Given the description of an element on the screen output the (x, y) to click on. 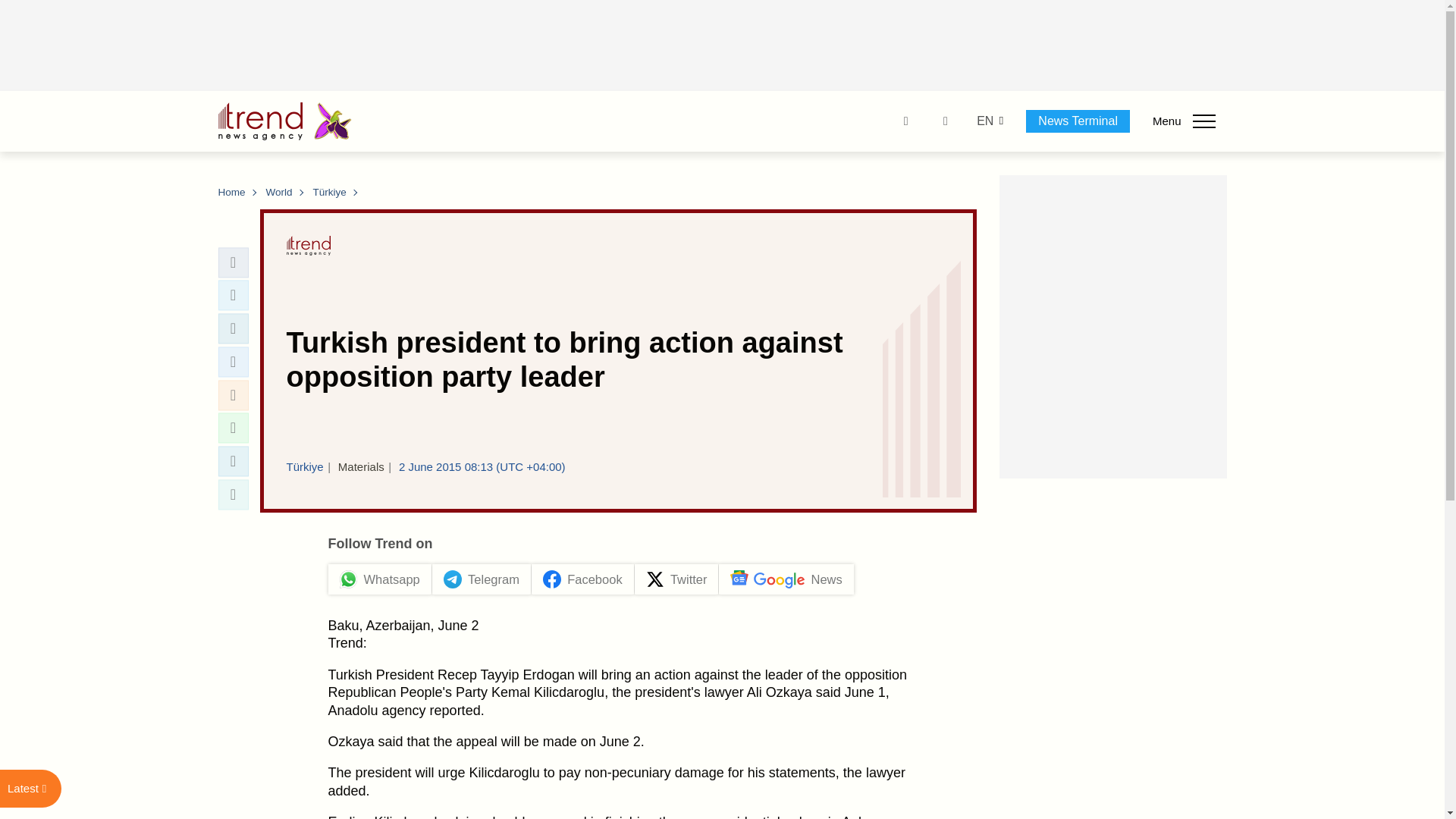
English (984, 121)
EN (984, 121)
News Terminal (1077, 120)
